Given the description of an element on the screen output the (x, y) to click on. 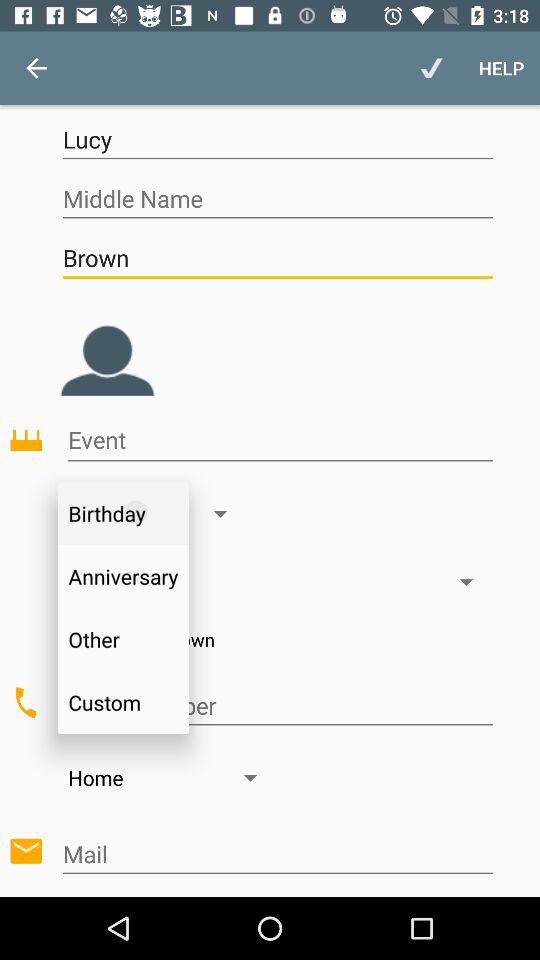
mail address input option (277, 854)
